Given the description of an element on the screen output the (x, y) to click on. 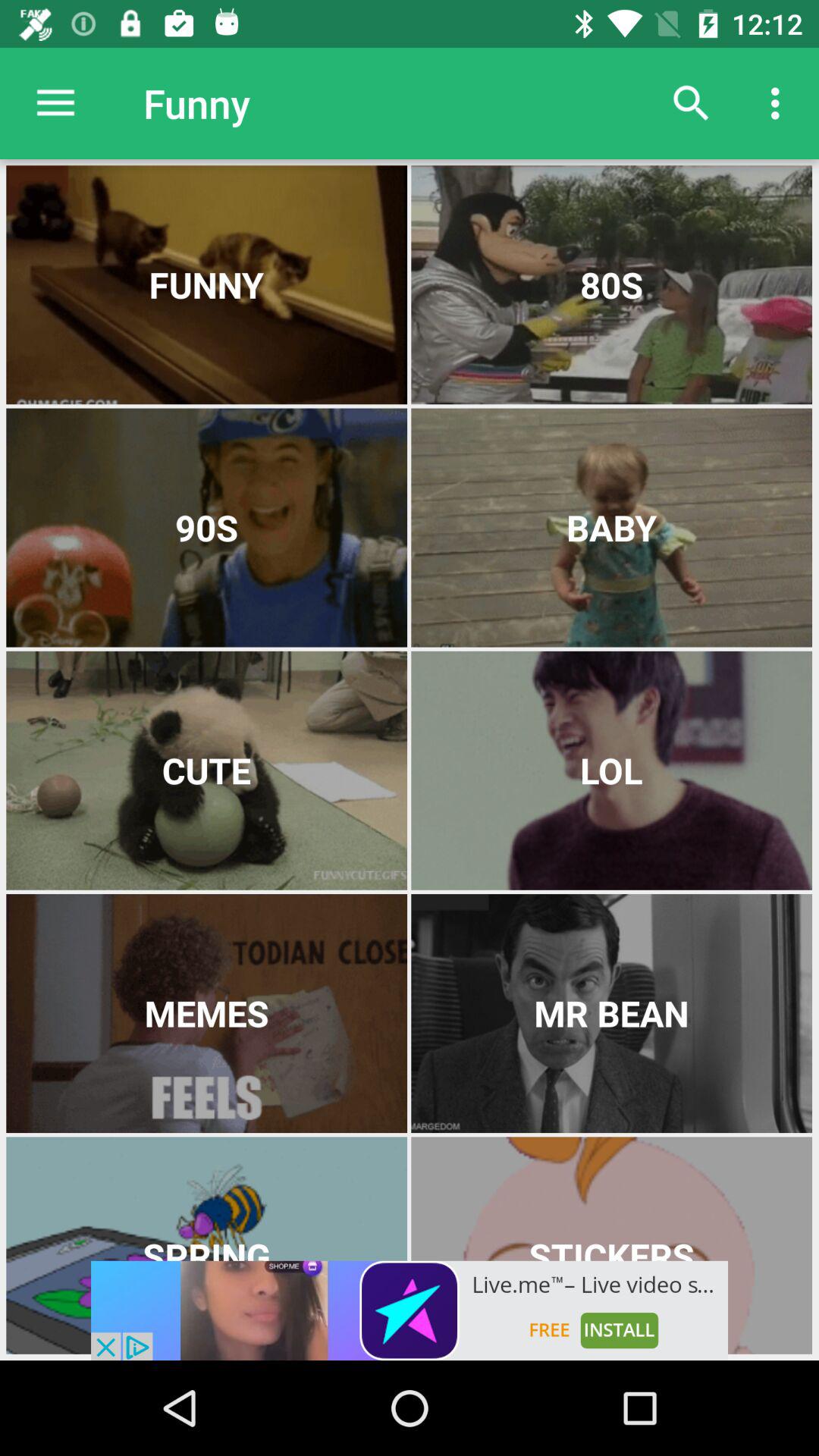
adding advertisement (409, 1310)
